Given the description of an element on the screen output the (x, y) to click on. 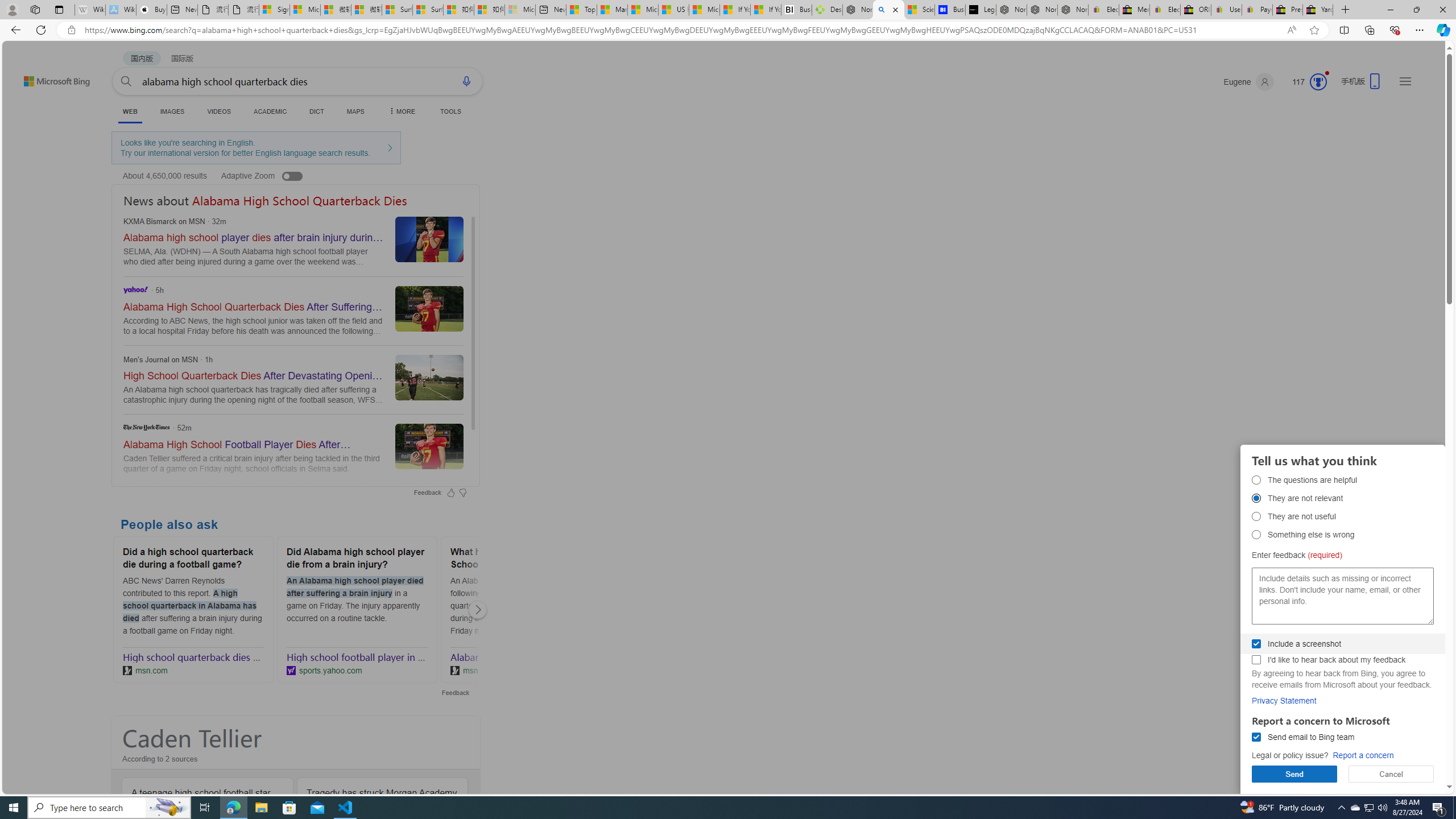
AutomationID: fbpgdgnotrel (1256, 497)
Press Room - eBay Inc. (1287, 9)
Report a concern (1362, 755)
Yard, Garden & Outdoor Living (1317, 9)
